Given the description of an element on the screen output the (x, y) to click on. 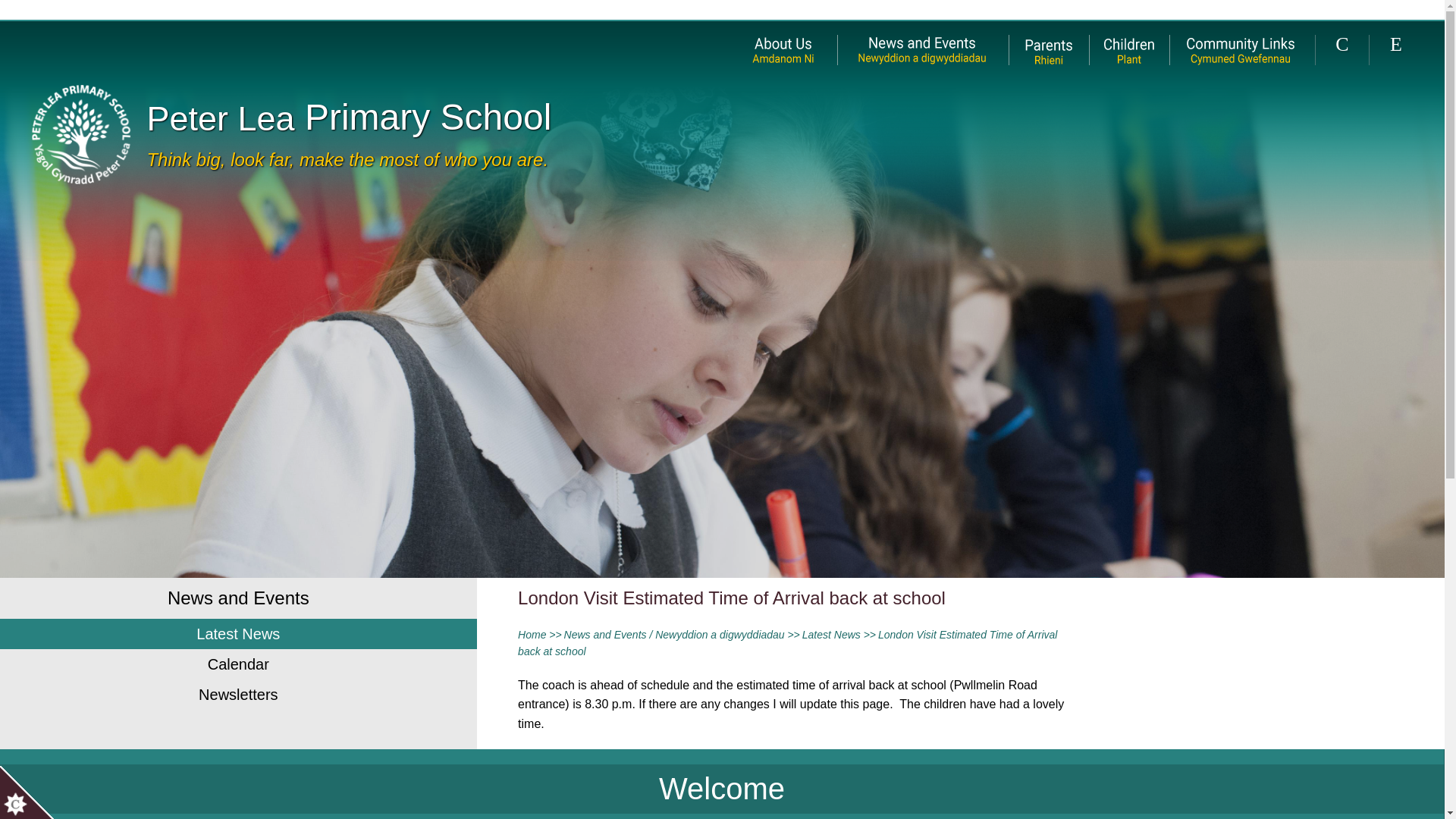
Home Page (80, 134)
Home Page (80, 134)
